Given the description of an element on the screen output the (x, y) to click on. 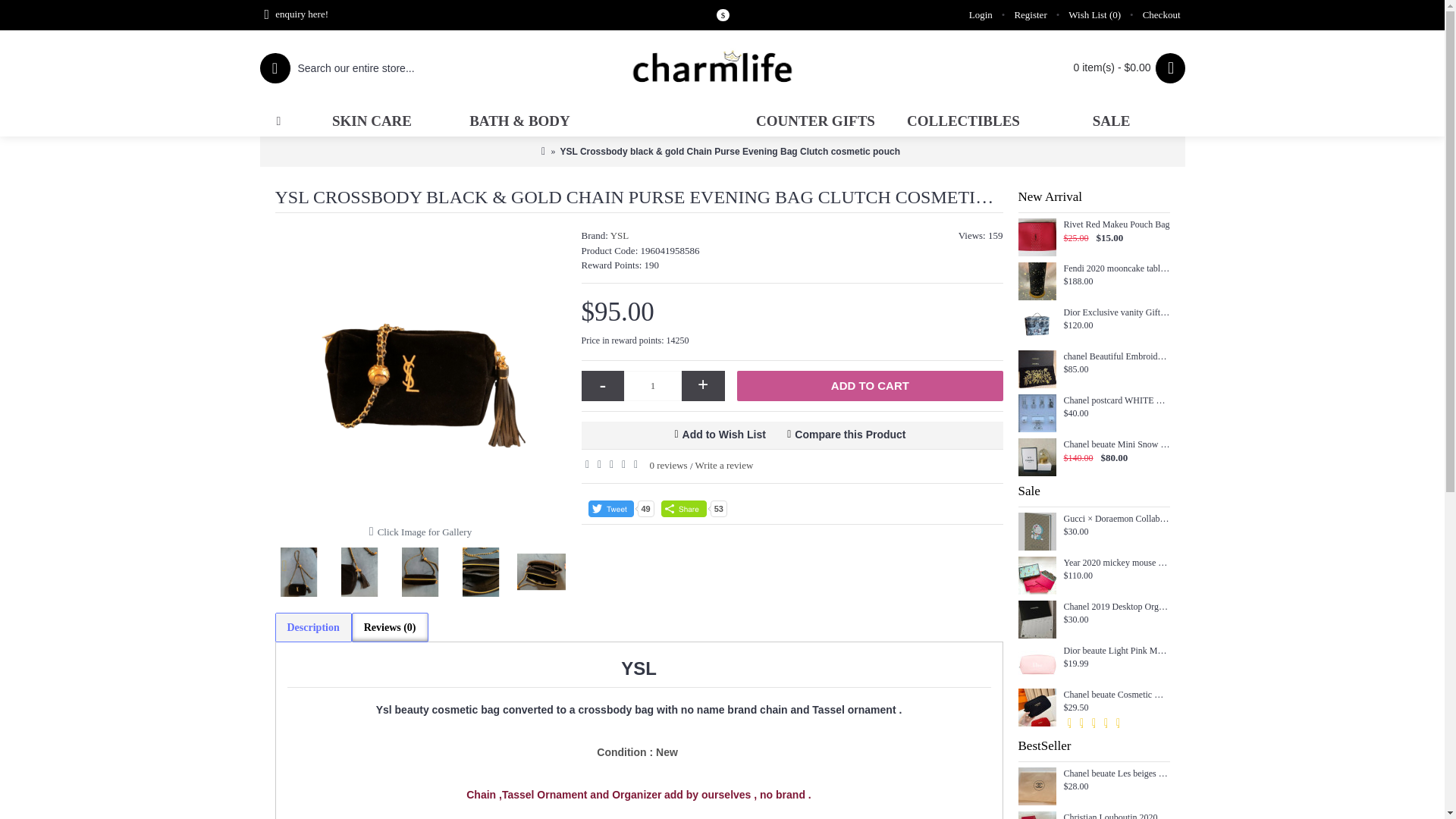
Register (1030, 15)
enquiry here! (296, 15)
Fendi 2020 mooncake table lamp  (1036, 281)
Rivet Red Makeu Pouch Bag (1036, 237)
1 (652, 386)
Dior Exclusive vanity Gift Makeup Box 2024 June (1036, 324)
Chanel  2019 Desktop Organizer Notebook Note Pad  (1036, 619)
CharmLife (721, 68)
Chanel  beuate Mini Snow globe Dome Ornament 2021 (1036, 456)
